Given the description of an element on the screen output the (x, y) to click on. 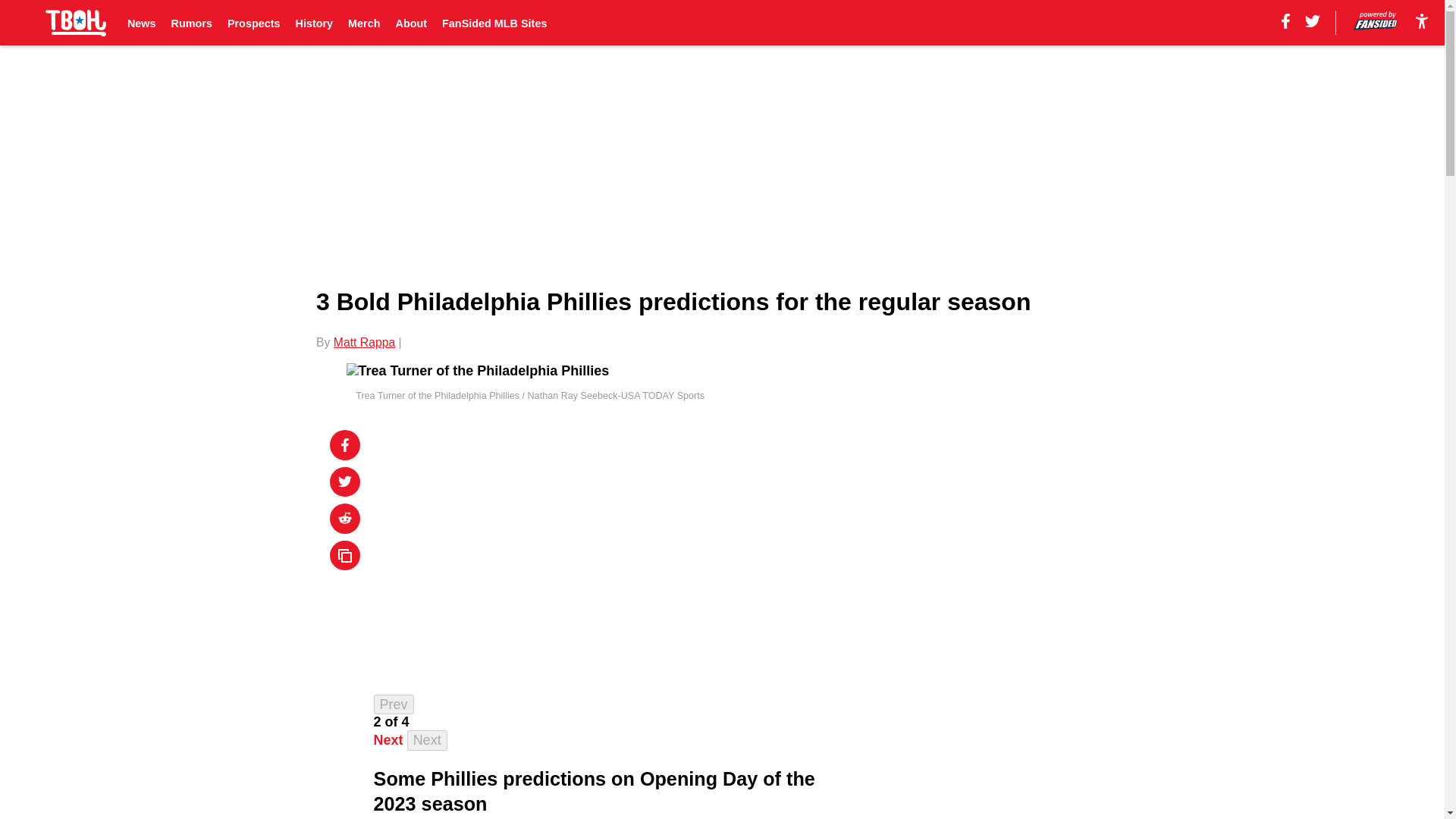
Matt Rappa (363, 341)
Rumors (191, 23)
Next (426, 740)
Merch (363, 23)
Prospects (254, 23)
News (141, 23)
Prev (393, 704)
FanSided MLB Sites (494, 23)
About (412, 23)
History (314, 23)
